Given the description of an element on the screen output the (x, y) to click on. 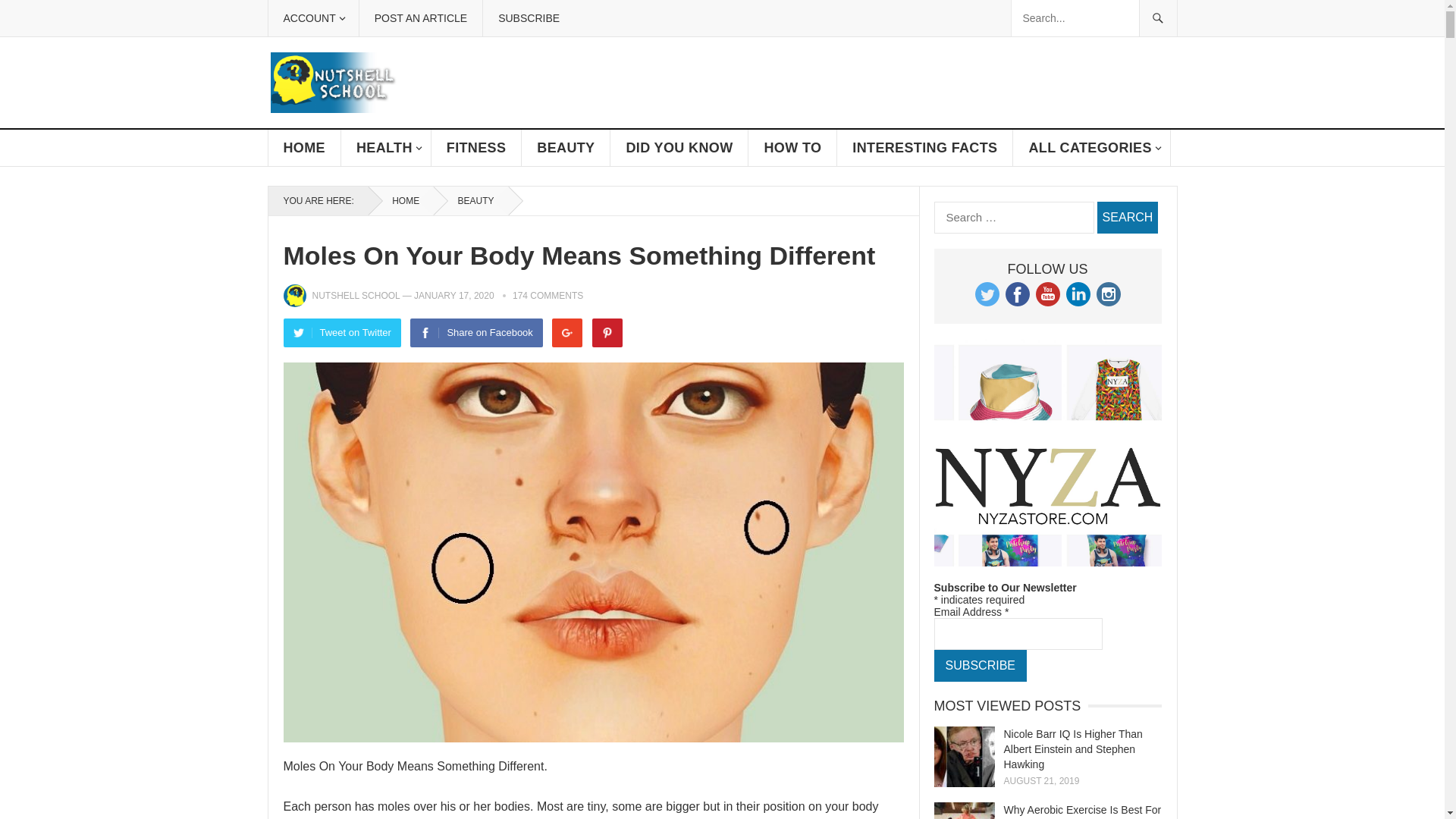
Search (1127, 217)
ALL CATEGORIES (1091, 147)
Subscribe (980, 665)
Advertisement (900, 162)
HOME (400, 200)
BEAUTY (470, 200)
SUBSCRIBE (528, 18)
HEALTH (385, 147)
DID YOU KNOW (679, 147)
ACCOUNT (312, 18)
INTERESTING FACTS (925, 147)
FITNESS (476, 147)
Posts by Nutshell School (356, 295)
HOW TO (792, 147)
BEAUTY (565, 147)
